Given the description of an element on the screen output the (x, y) to click on. 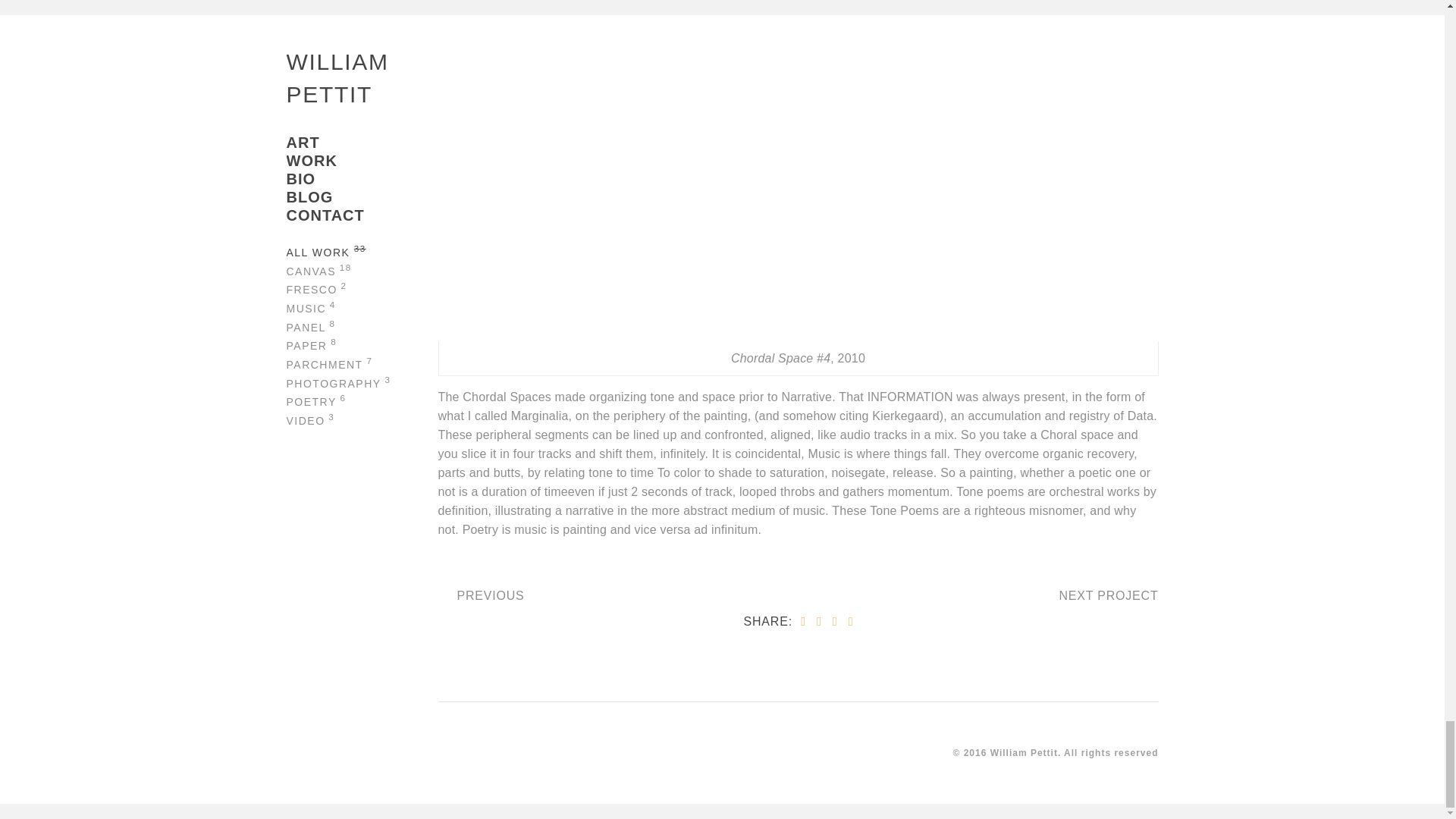
Stragedies (1104, 595)
PREVIOUS PROJECT (490, 595)
NEXT PROJECT (1104, 595)
